Given the description of an element on the screen output the (x, y) to click on. 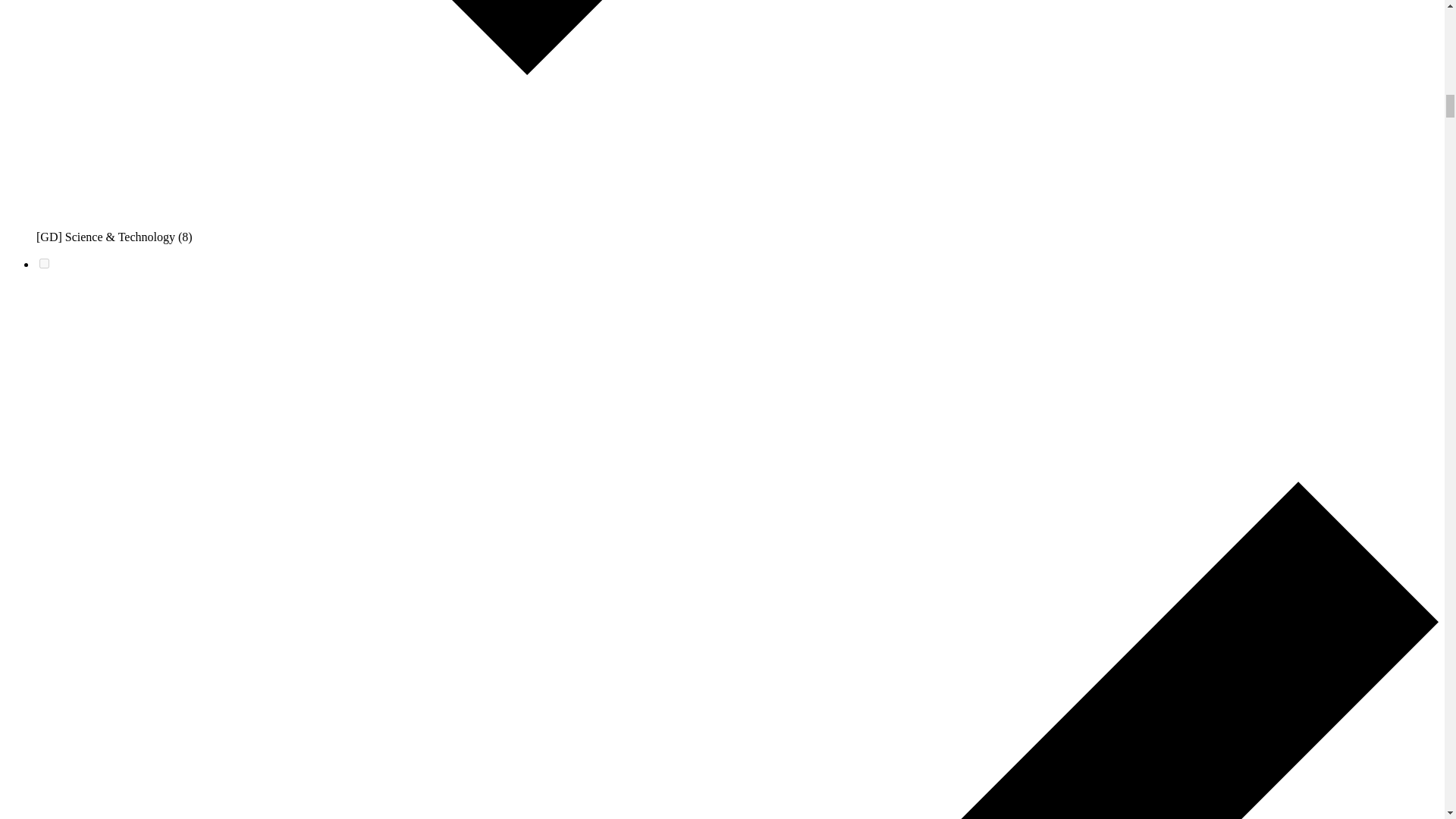
119 (44, 263)
